Given the description of an element on the screen output the (x, y) to click on. 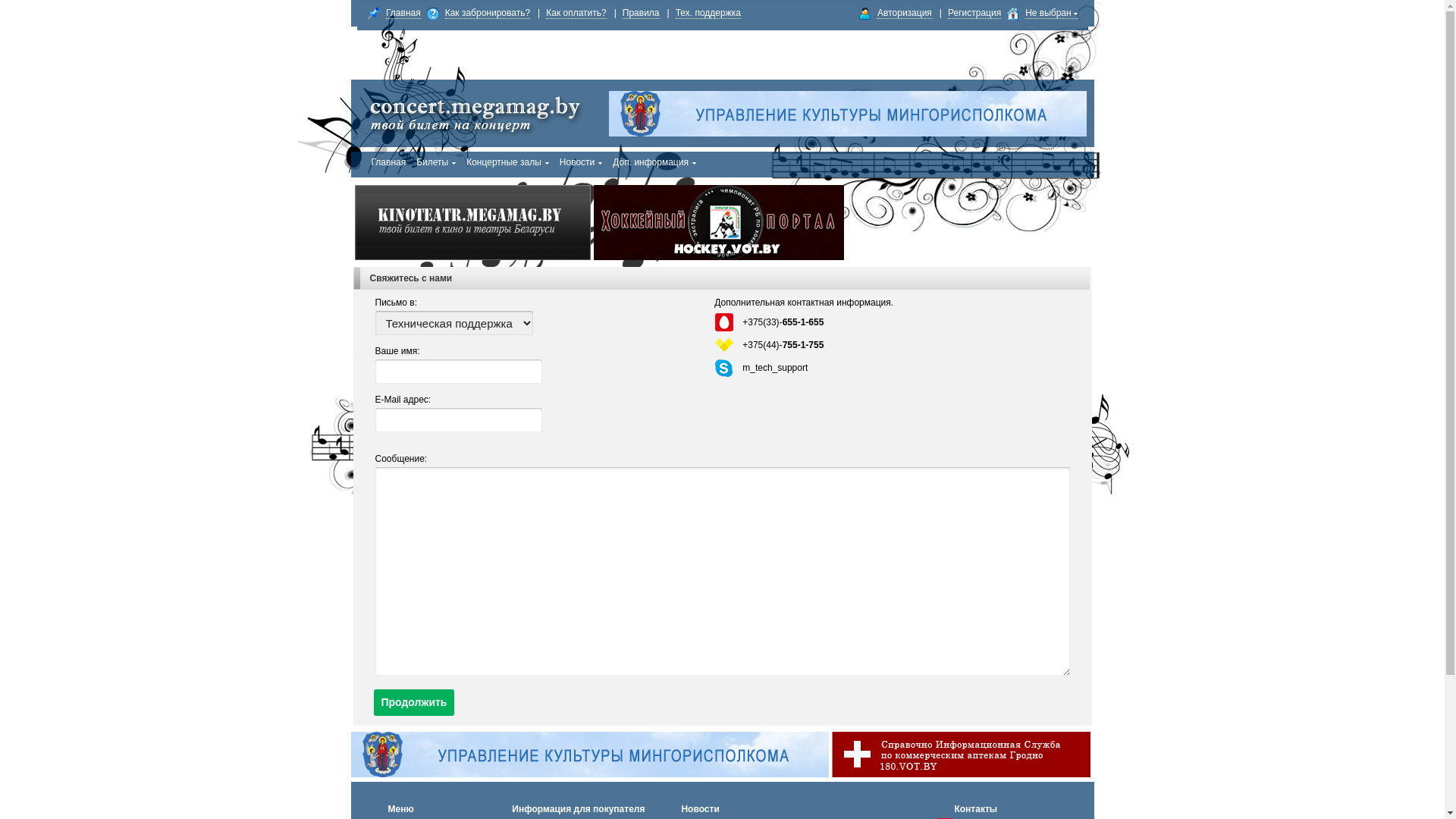
+375(44)-755-1-755 Element type: text (782, 344)
 180.vot.by  Element type: hover (960, 754)
m_tech_support Element type: text (774, 367)
 hockey.vot.by  Element type: hover (718, 222)
 kinoteatr.megamag.by  Element type: hover (472, 222)
+375(33)-655-1-655 Element type: text (782, 321)
